Given the description of an element on the screen output the (x, y) to click on. 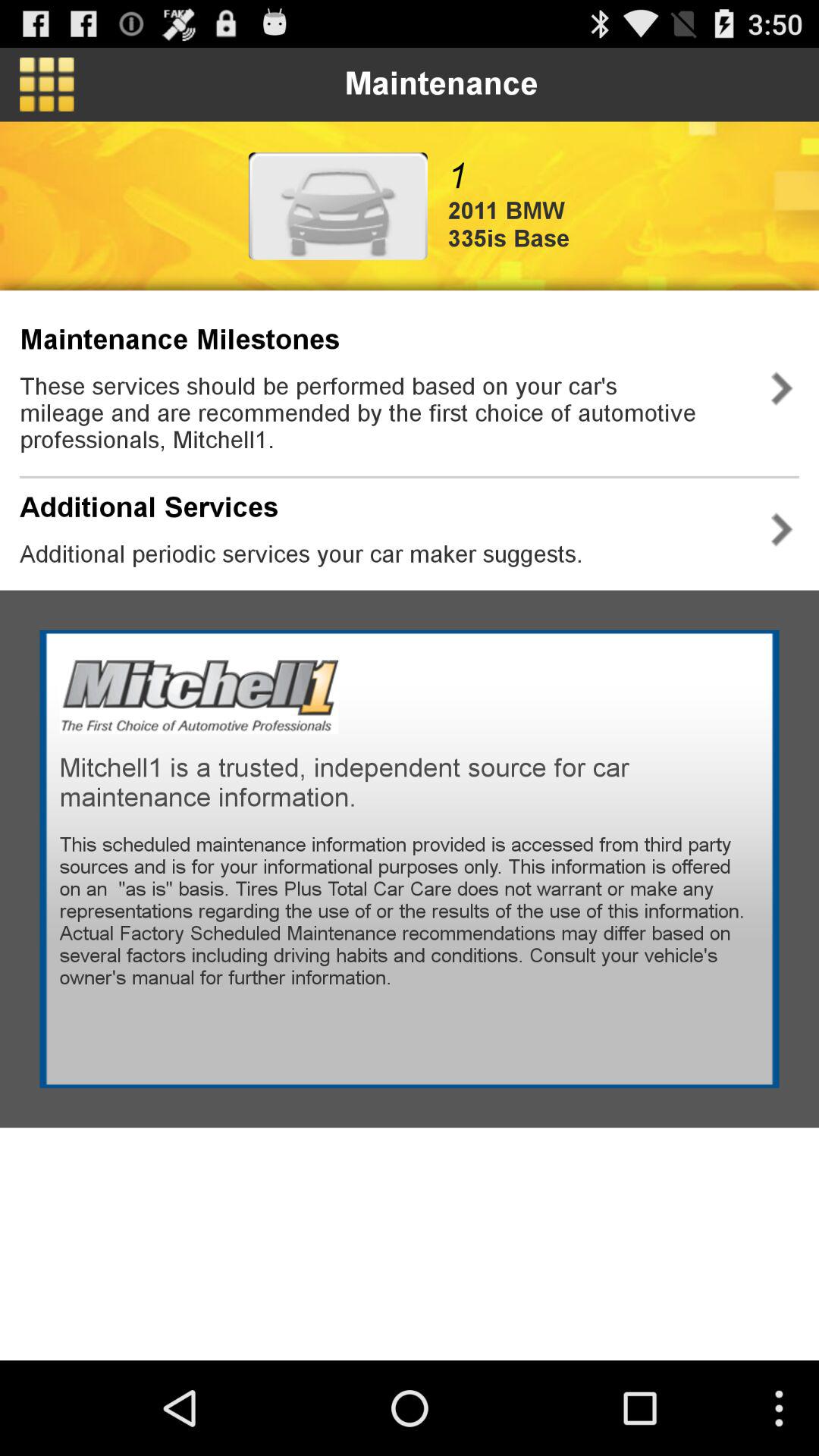
launch the these services should app (382, 413)
